Given the description of an element on the screen output the (x, y) to click on. 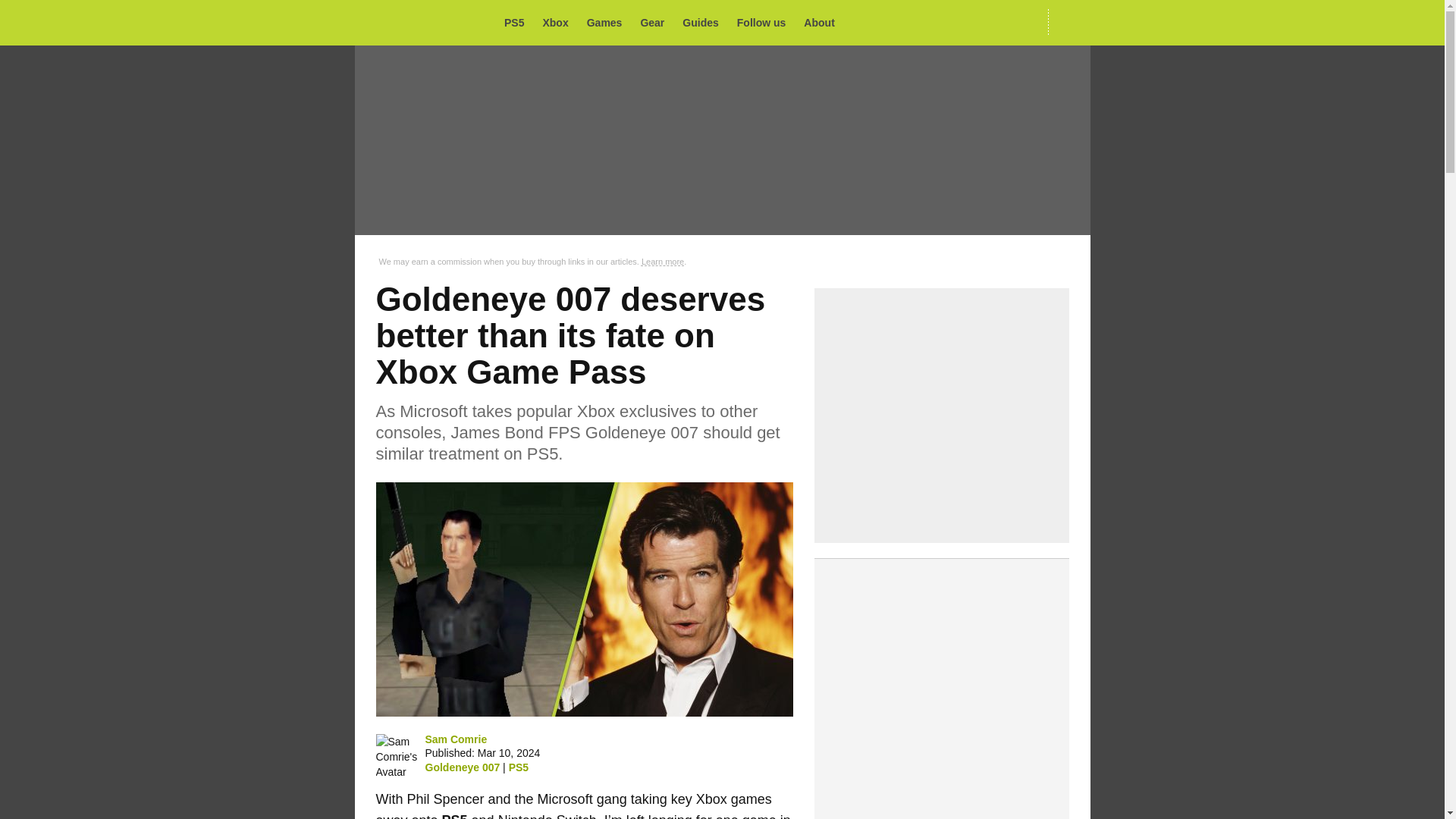
Game Guides (704, 22)
Follow us (765, 22)
Sam Comrie (455, 739)
Guides (704, 22)
Goldeneye 007 (462, 767)
The Loadout (424, 24)
Games (608, 22)
PS5 (518, 767)
Follow The Loadout (765, 22)
